Given the description of an element on the screen output the (x, y) to click on. 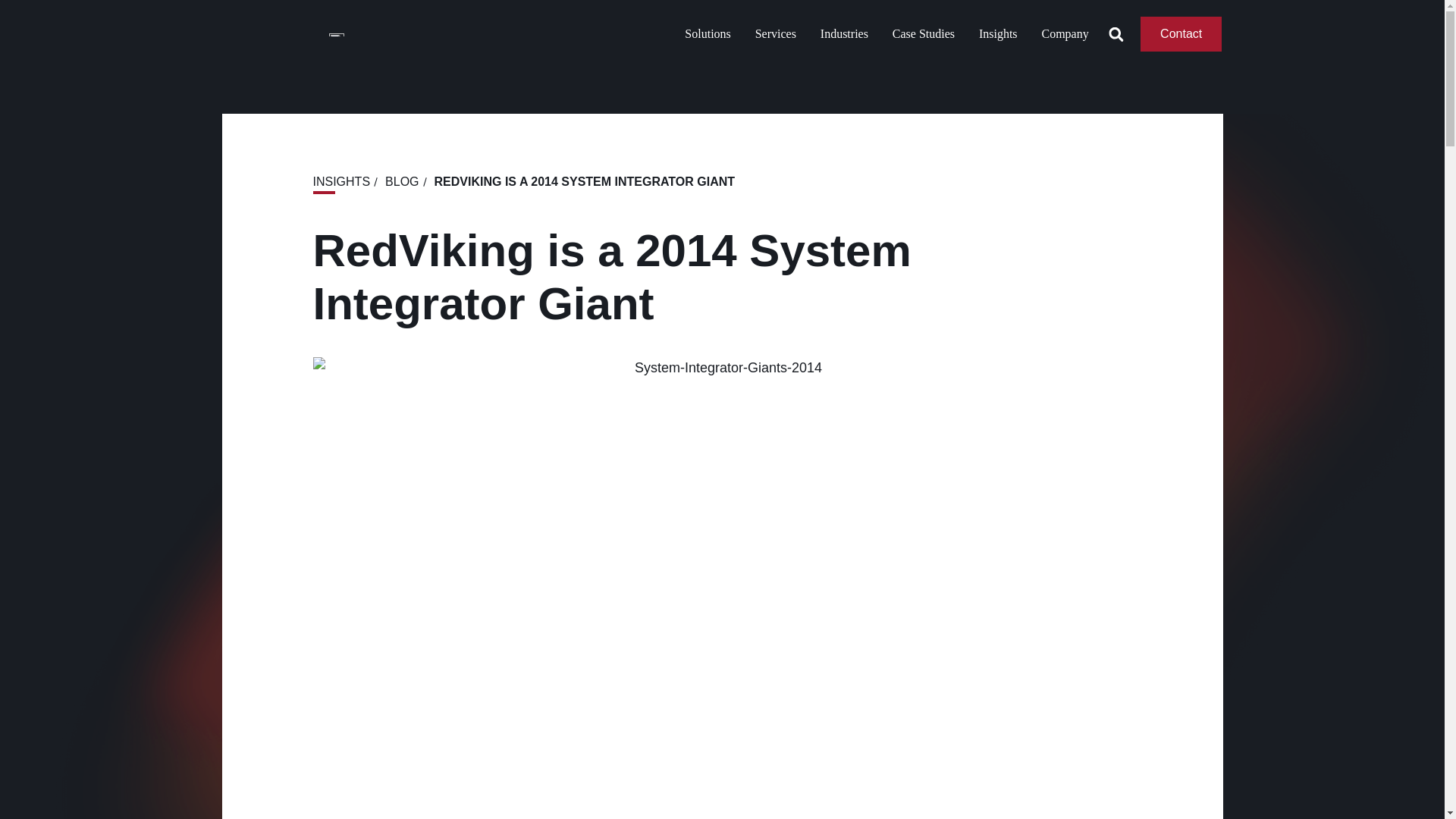
Go to Insights. (341, 181)
Go to Blog. (402, 181)
Case Studies (923, 33)
